Given the description of an element on the screen output the (x, y) to click on. 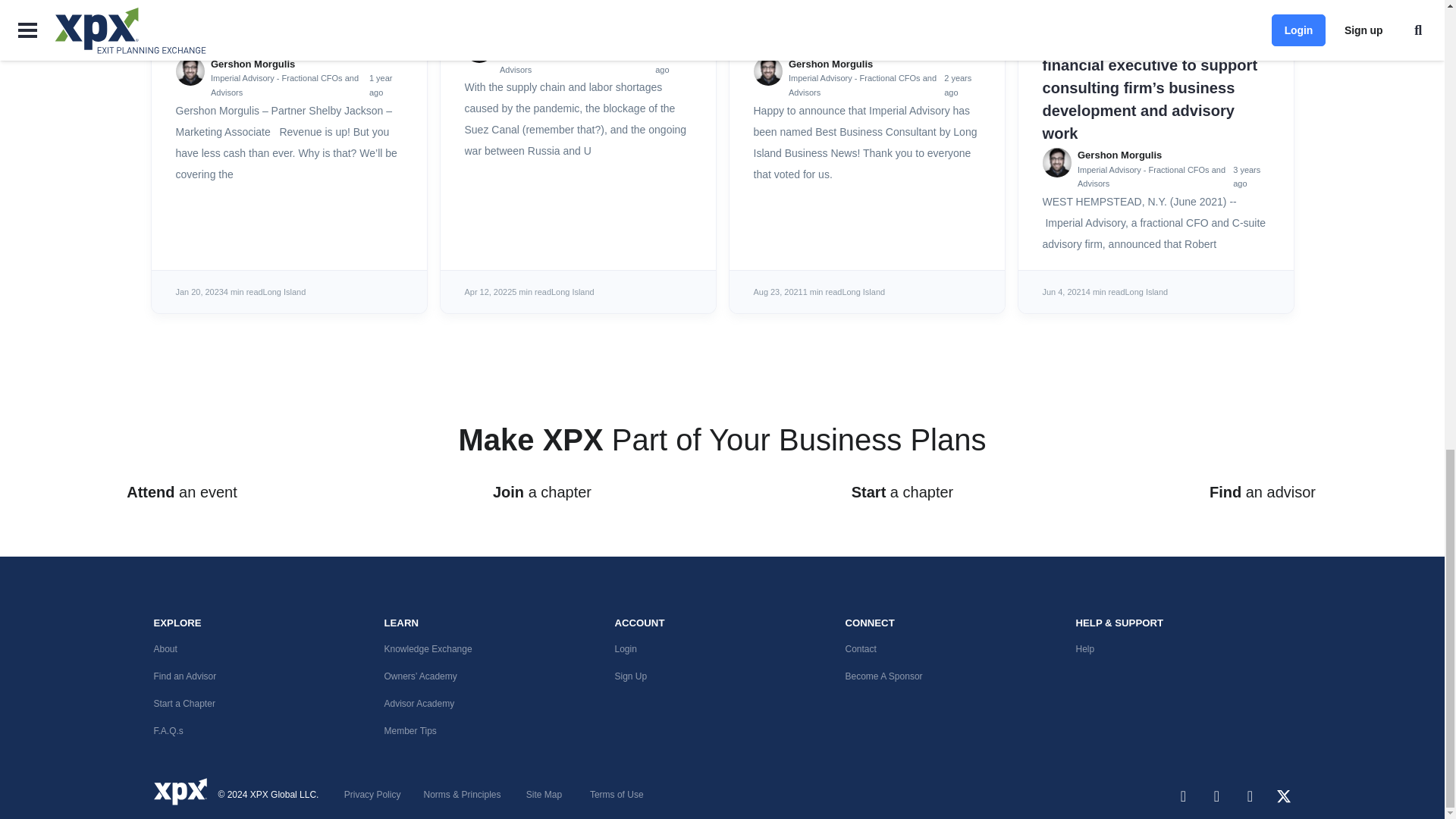
Site Map (543, 794)
View XPX Long Island (863, 291)
View XPX Long Island (284, 291)
Terms of Use (616, 794)
View XPX Long Island (572, 291)
View XPX Long Island (1147, 291)
Site Map (461, 794)
Privacy Policy (372, 794)
